Given the description of an element on the screen output the (x, y) to click on. 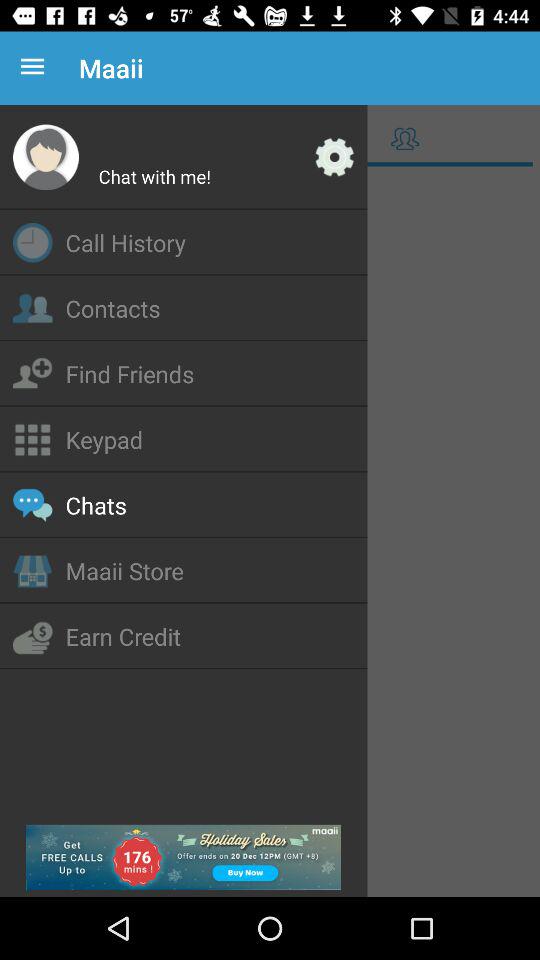
menu (270, 533)
